Given the description of an element on the screen output the (x, y) to click on. 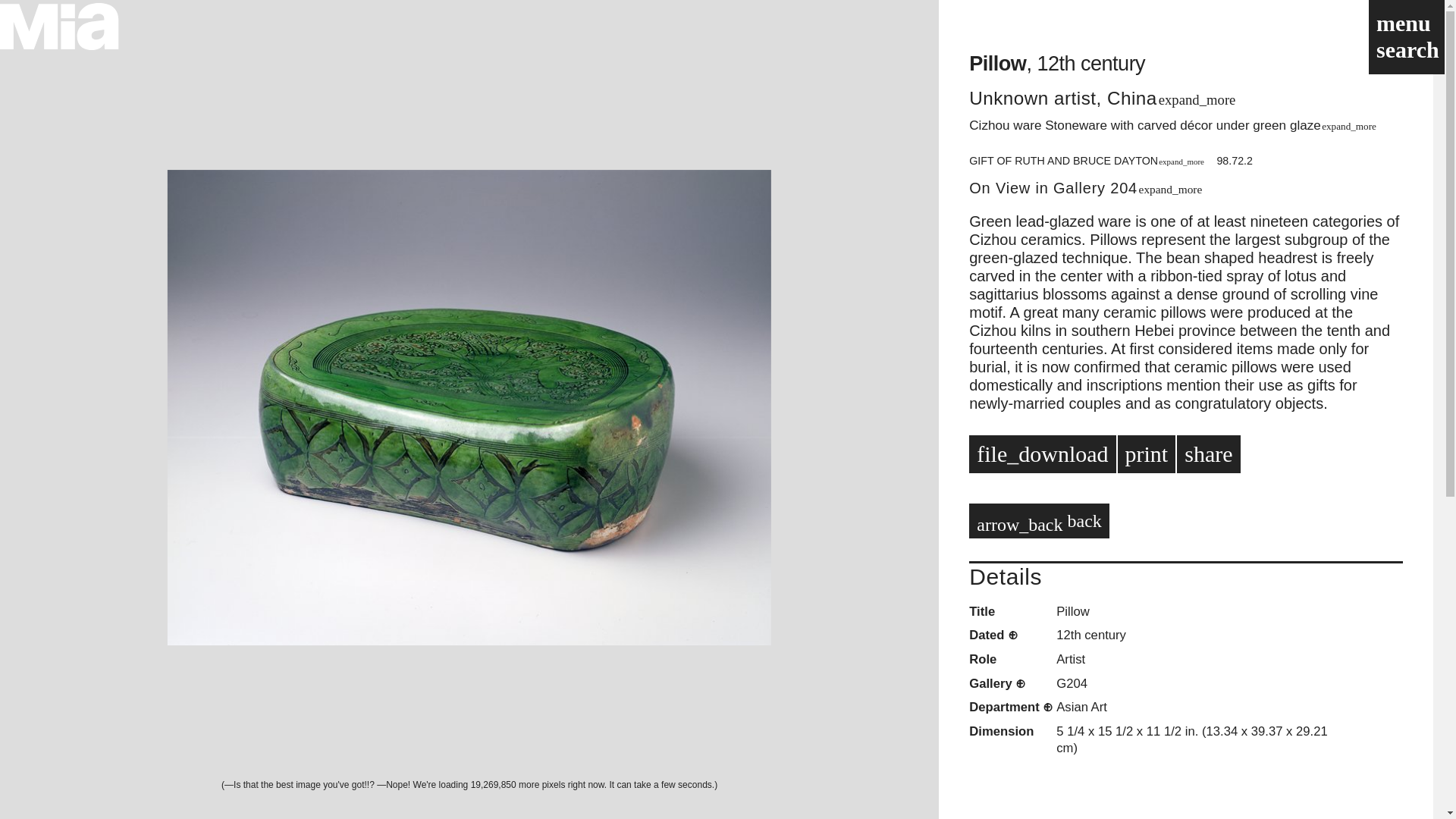
search (1403, 48)
menu (1399, 22)
